Given the description of an element on the screen output the (x, y) to click on. 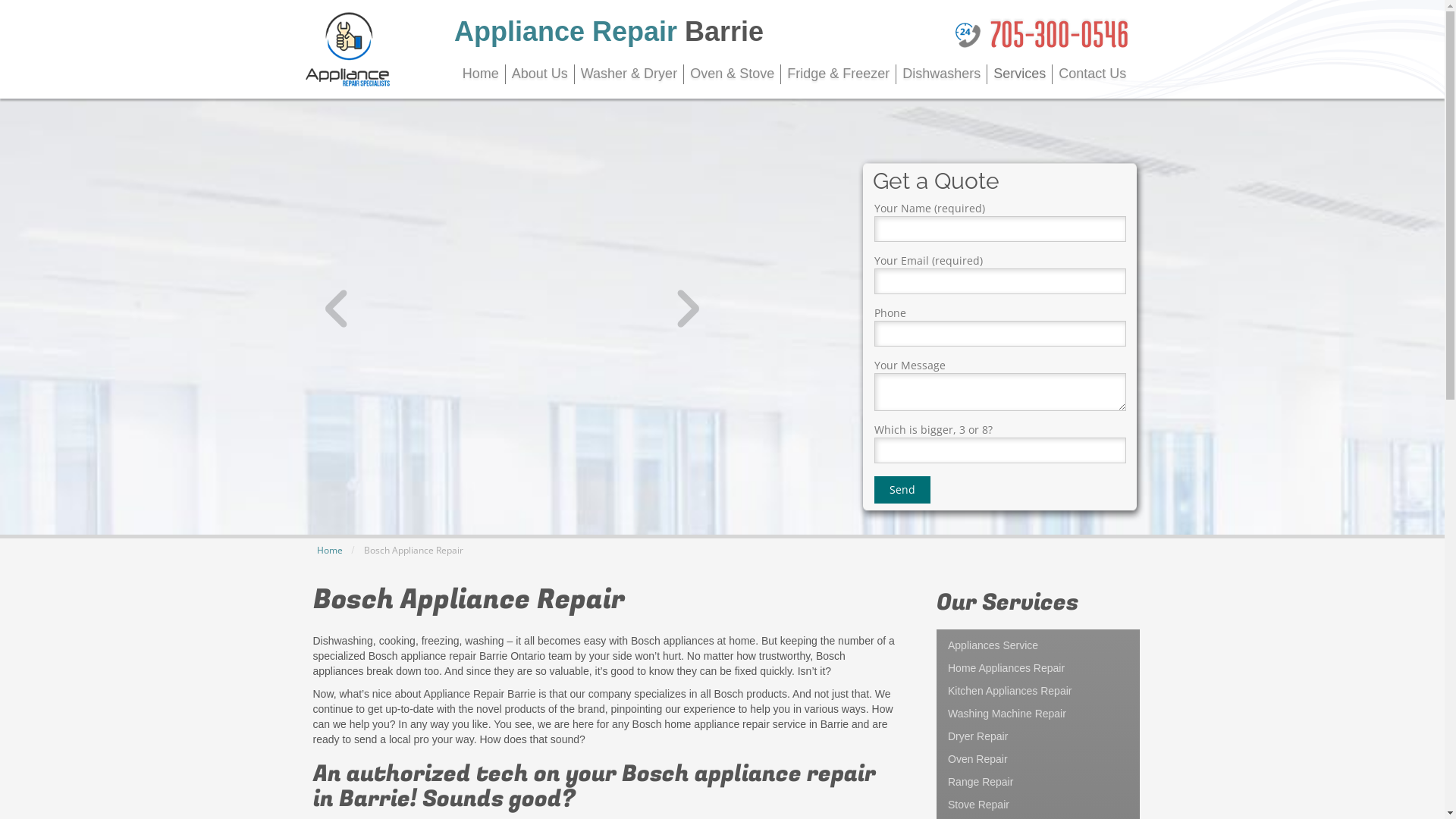
About Us Element type: text (539, 74)
Contact Us Element type: text (1092, 74)
Washer & Dryer Element type: text (629, 74)
Home Appliances Repair Element type: text (1038, 667)
Services Element type: text (1019, 74)
Dryer Repair Element type: text (1038, 735)
Home Element type: text (480, 74)
Range Repair Element type: text (1038, 781)
Kitchen Appliances Repair Element type: text (1038, 690)
Fridge & Freezer Element type: text (838, 74)
Oven & Stove Element type: text (732, 74)
Dishwashers Element type: text (941, 74)
Stove Repair Element type: text (1038, 804)
Home Element type: text (329, 549)
Oven Repair Element type: text (1038, 758)
705-300-0546 Element type: text (1059, 33)
Appliances Service Element type: text (1038, 644)
Send Element type: text (902, 489)
Washing Machine Repair Element type: text (1038, 713)
